Given the description of an element on the screen output the (x, y) to click on. 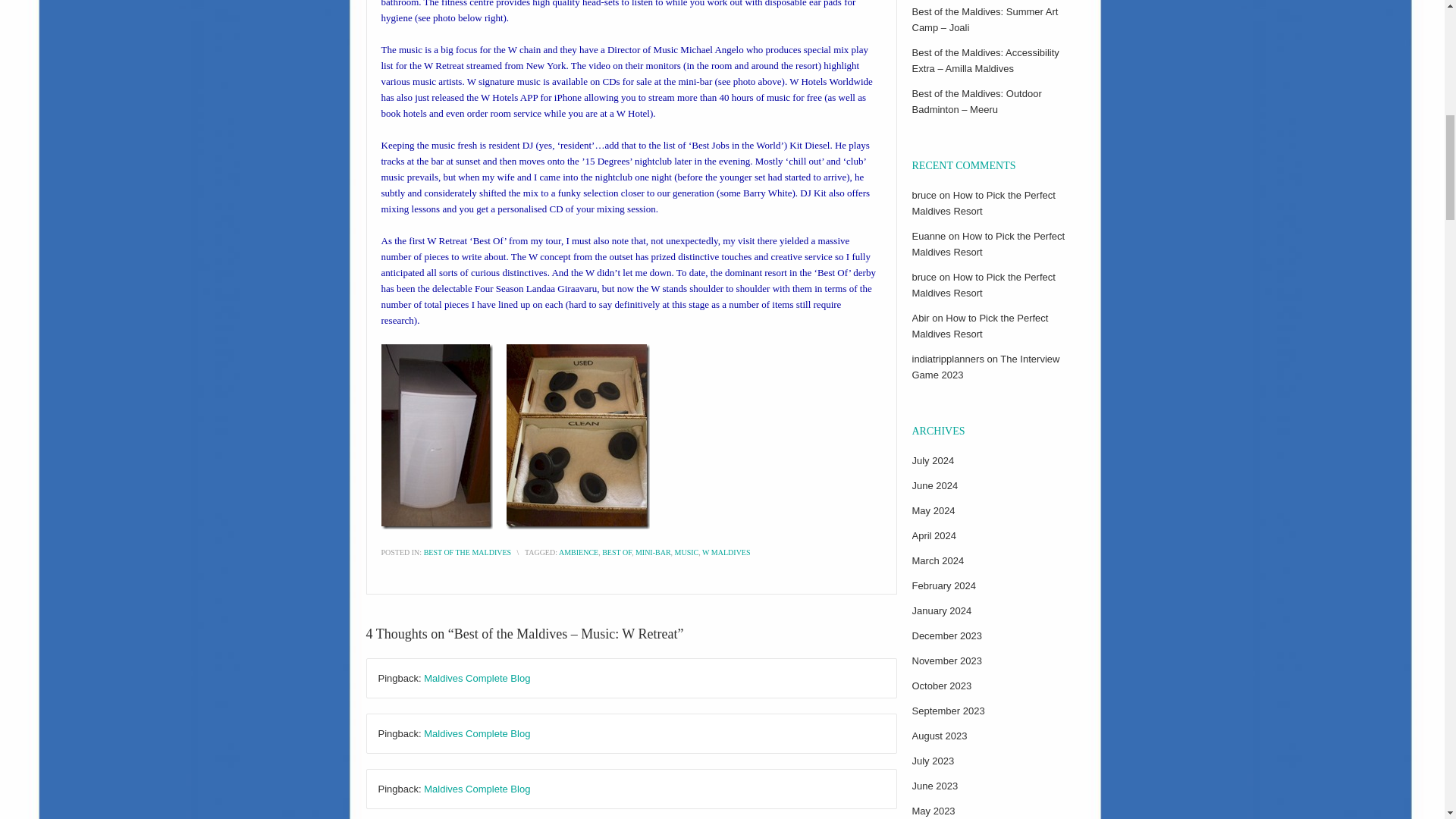
AMBIENCE (578, 551)
mini-bar (694, 81)
BEST OF THE MALDIVES (467, 551)
W MALDIVES (725, 551)
W concept (549, 256)
Four Season Landaa Giraavaru (535, 288)
MUSIC (686, 551)
Maldives Complete Blog (476, 788)
CDs for sale (626, 81)
Director of Music Michael Angelo (675, 49)
Kit Diesel (809, 144)
BEST OF (616, 551)
W Hotels APP for iPhone (530, 97)
MINI-BAR (652, 551)
Maldives Complete Blog (476, 733)
